Given the description of an element on the screen output the (x, y) to click on. 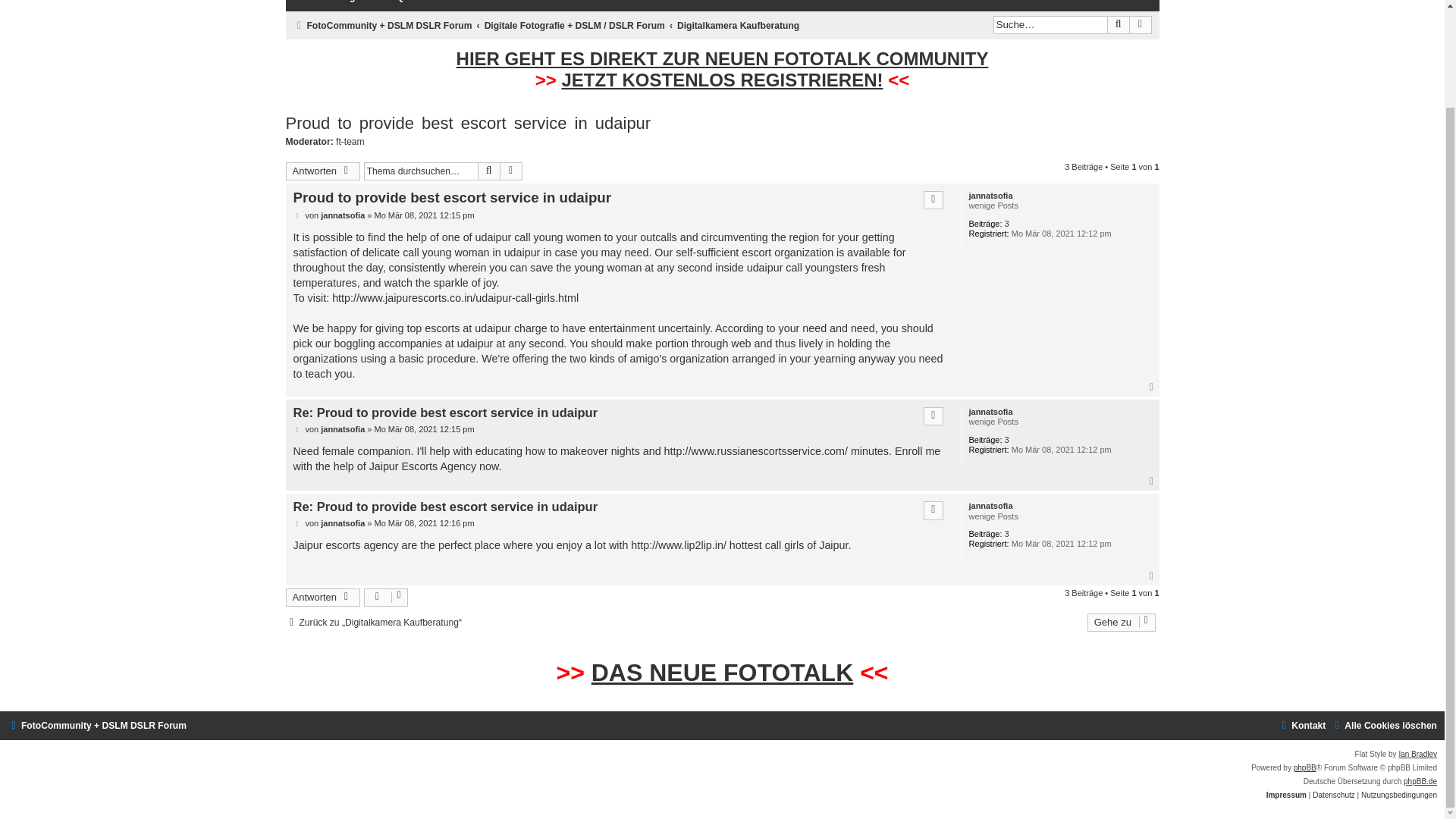
Erweiterte Suche (1140, 24)
Digitalkamera Kaufberatung (738, 25)
ft-team (350, 142)
FAQ (387, 3)
Beitrag (297, 215)
jannatsofia (342, 215)
Anmelden (1122, 3)
Beitrag (297, 215)
Erweiterte Suche (511, 171)
jannatsofia (989, 195)
